Given the description of an element on the screen output the (x, y) to click on. 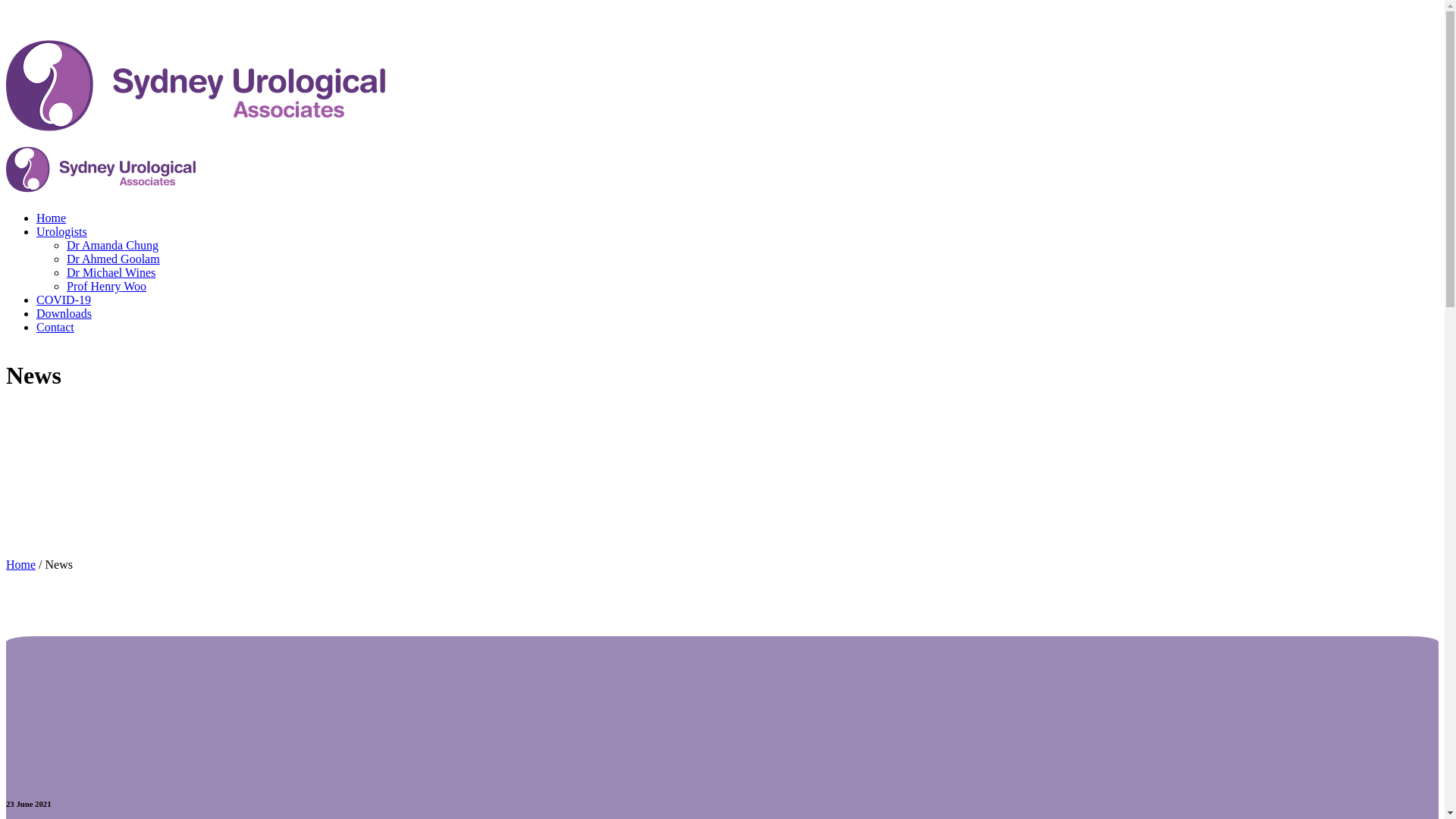
Dr Ahmed Goolam Element type: text (113, 258)
Dr Michael Wines Element type: text (110, 272)
Home Element type: text (50, 217)
COVID-19 Element type: text (63, 299)
Contact Element type: text (55, 326)
Downloads Element type: text (63, 313)
Urologists Element type: text (61, 231)
Dr Amanda Chung Element type: text (112, 244)
Home Element type: text (20, 564)
Prof Henry Woo Element type: text (106, 285)
Sydney Urological Associates Element type: hover (195, 163)
